Given the description of an element on the screen output the (x, y) to click on. 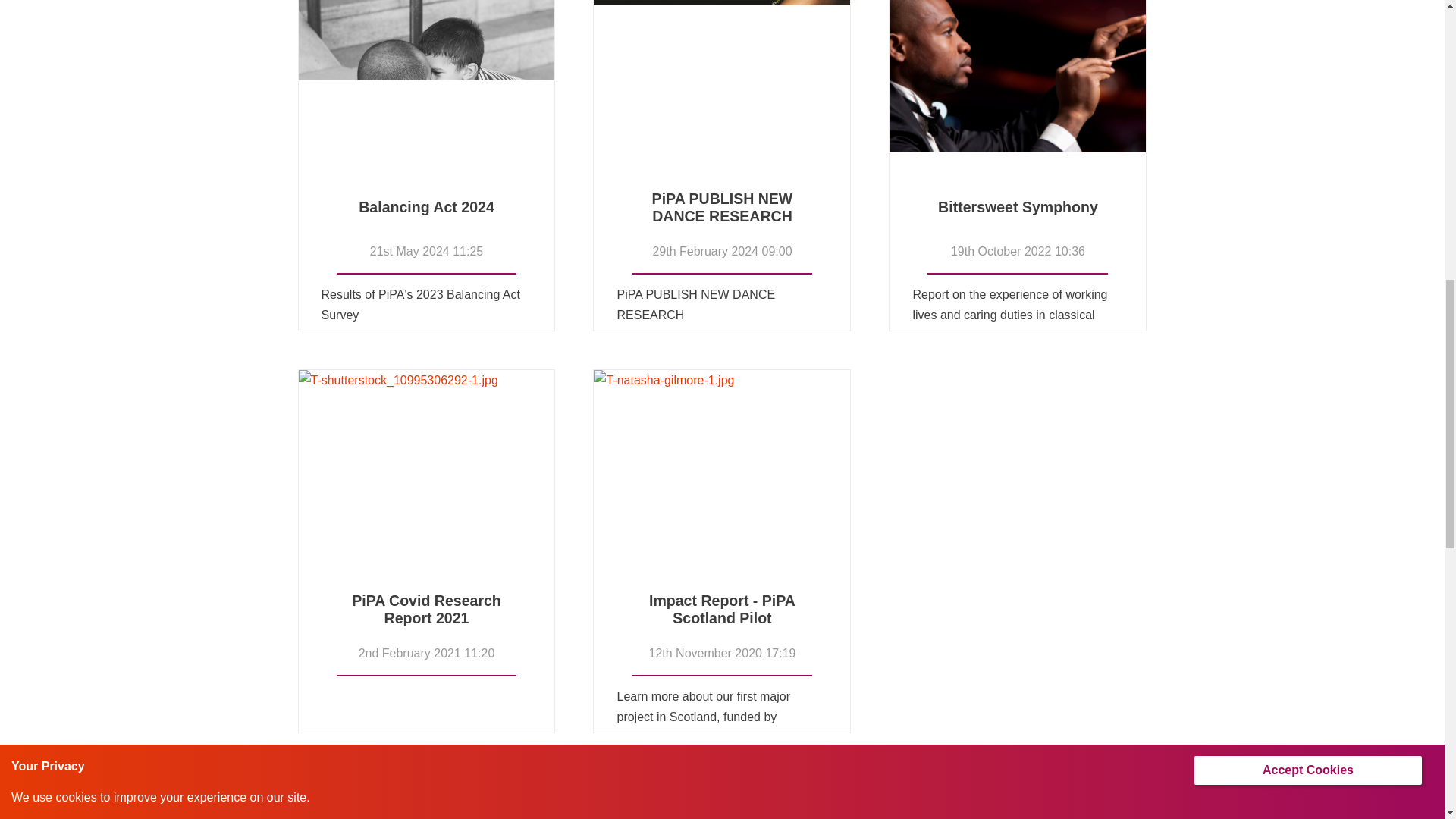
Balancing Act 2024 (426, 207)
PiPA PUBLISH NEW DANCE RESEARCH (722, 112)
Bittersweet Symphony (1017, 207)
PiPA Covid Research Report 2021 (426, 498)
Bittersweet Symphony (1017, 112)
PiPA PUBLISH NEW DANCE RESEARCH (721, 207)
Balancing Act 2024 (426, 112)
Impact Report - PiPA Scotland Pilot (721, 609)
Go to page 1 (1062, 785)
Impact Report - PiPA Scotland Pilot (722, 498)
Go to page 1 (1084, 785)
PiPA Covid Research Report 2021 (426, 609)
